Given the description of an element on the screen output the (x, y) to click on. 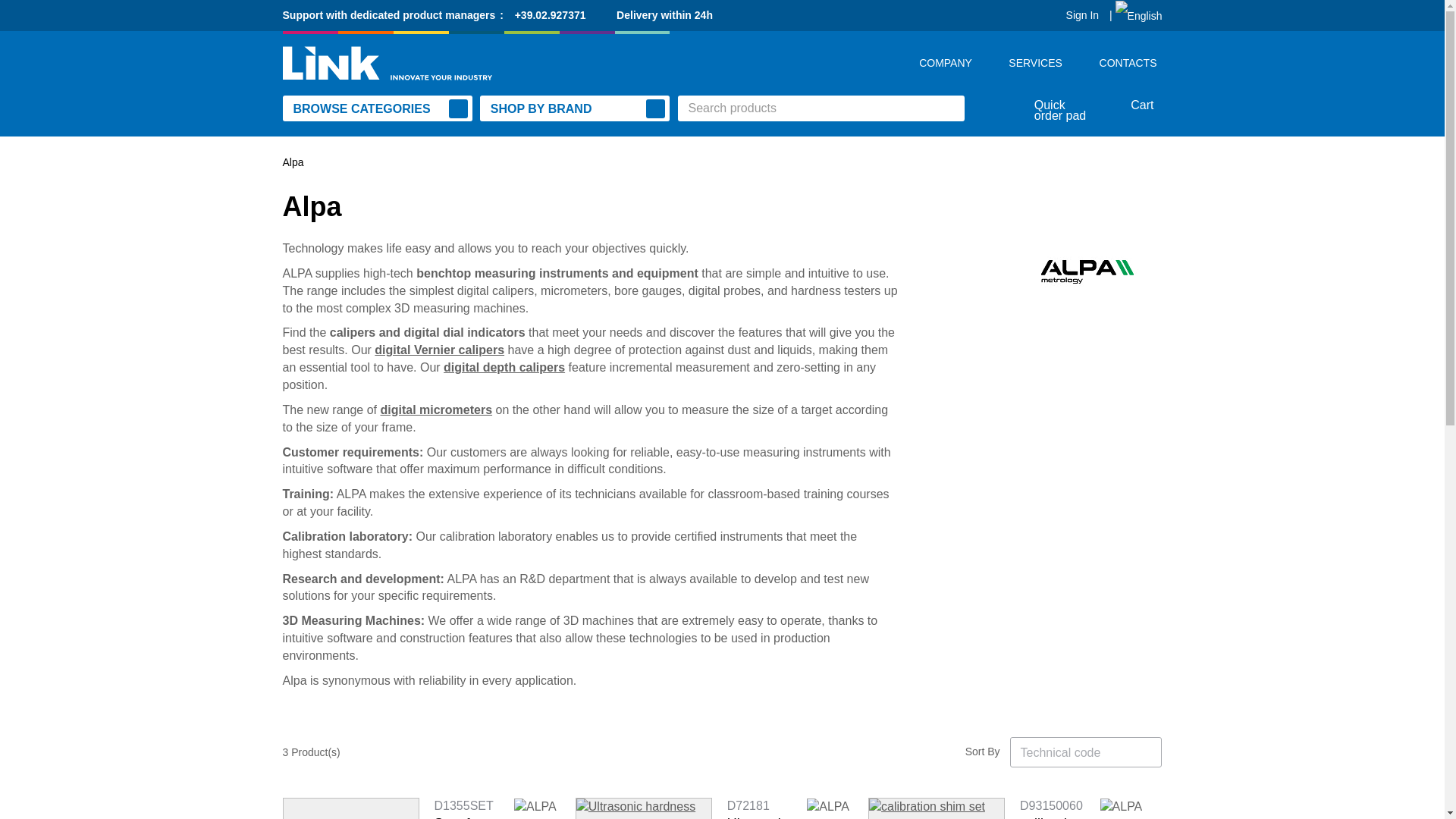
LinkSpa (475, 62)
LinkSpa (387, 62)
Company (952, 62)
Choose your Country (1138, 15)
LinkSpa (475, 62)
Sign In (1075, 15)
